Given the description of an element on the screen output the (x, y) to click on. 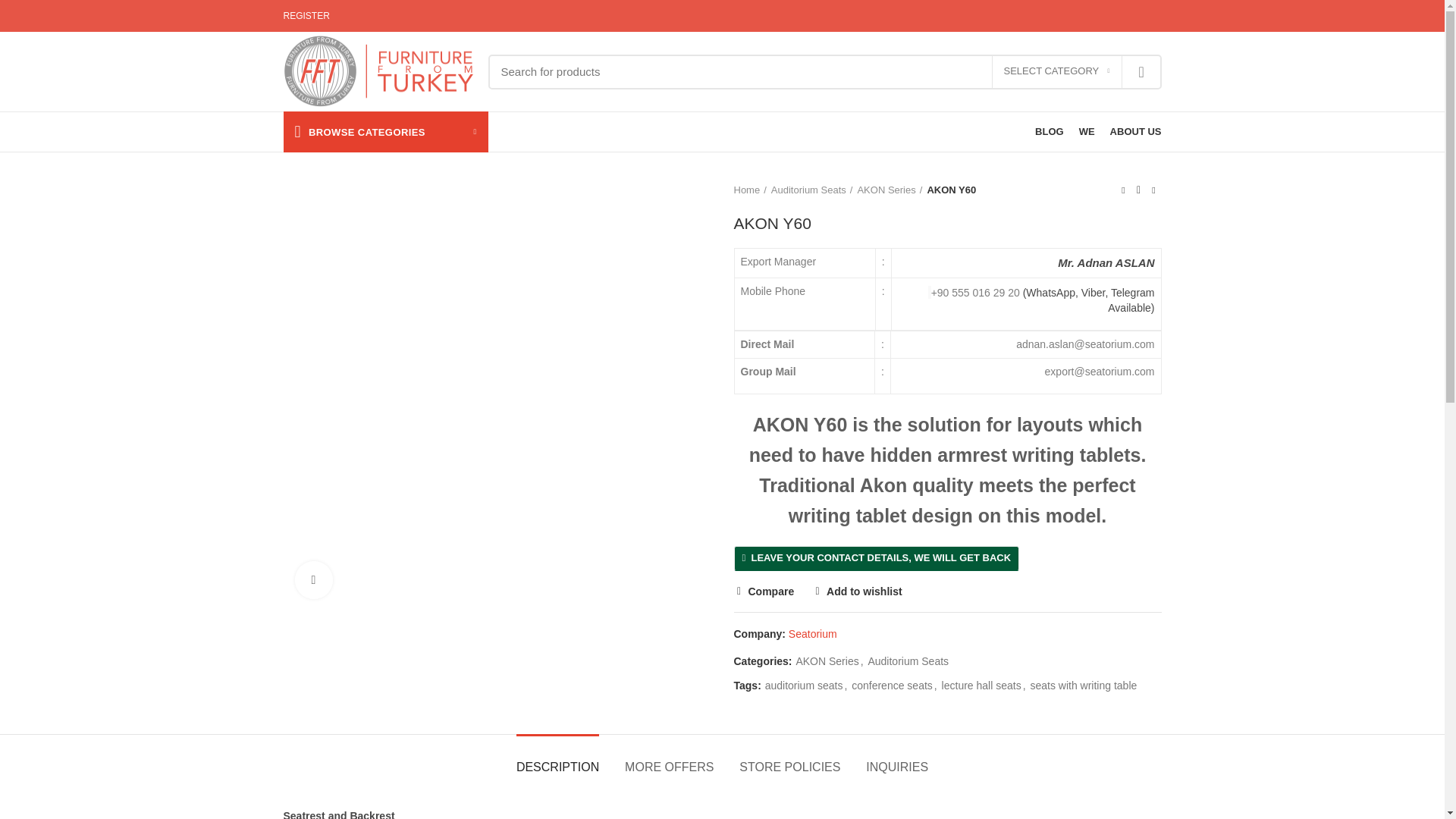
SELECT CATEGORY (1056, 71)
Search for products (824, 71)
REGISTER (306, 15)
SELECT CATEGORY (1056, 71)
